Given the description of an element on the screen output the (x, y) to click on. 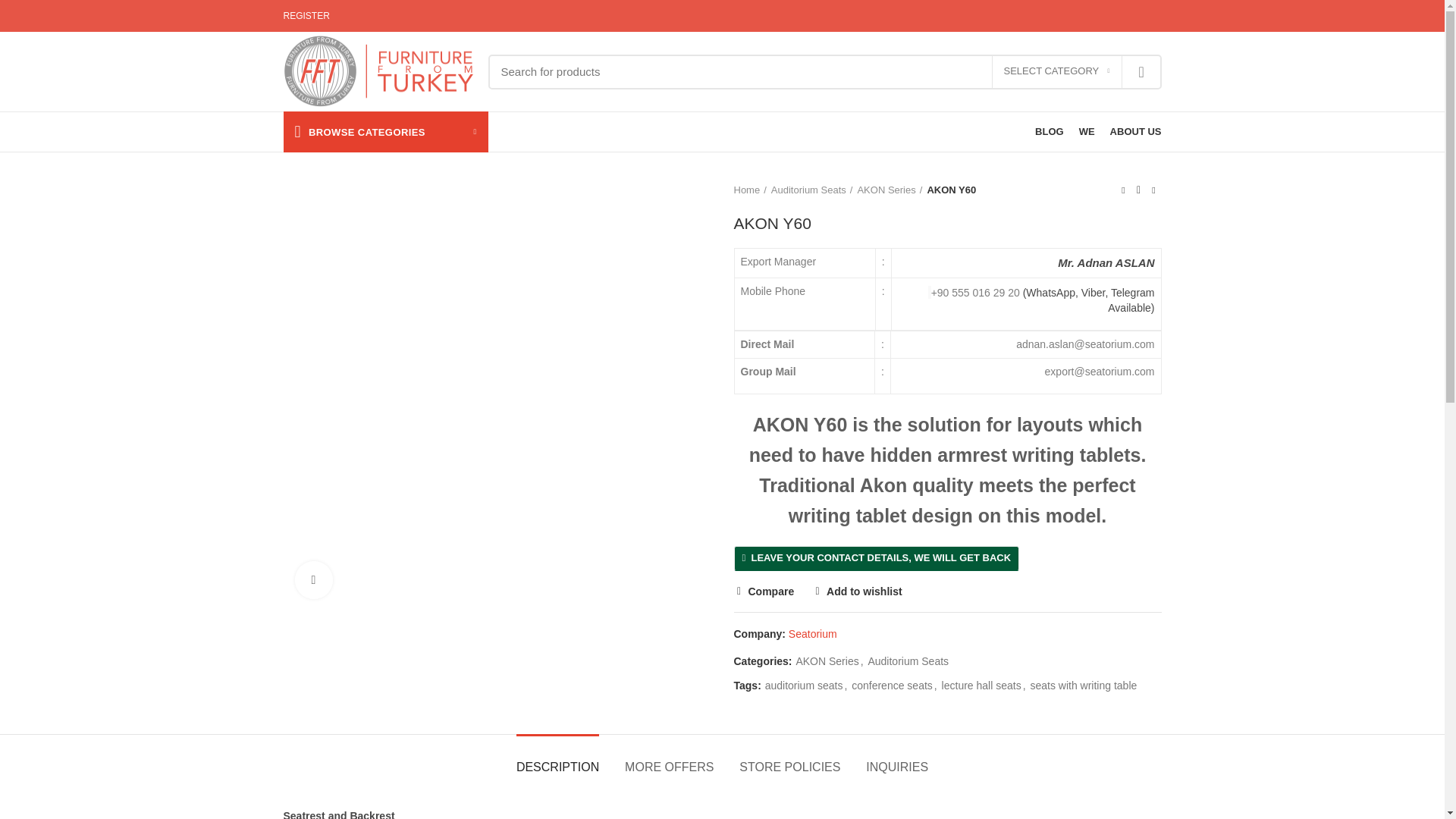
SELECT CATEGORY (1056, 71)
Search for products (824, 71)
REGISTER (306, 15)
SELECT CATEGORY (1056, 71)
